Given the description of an element on the screen output the (x, y) to click on. 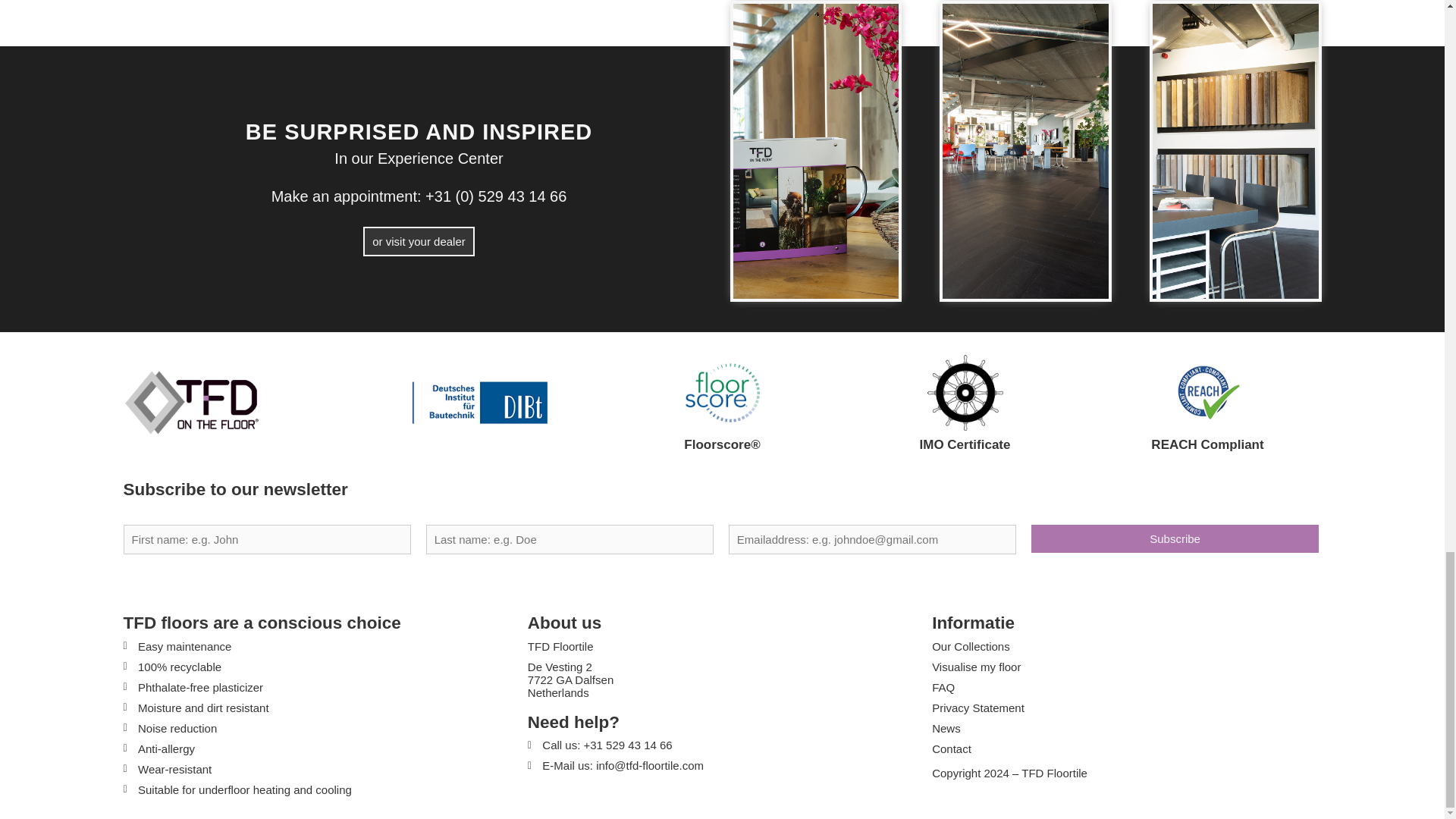
Subscribe (1174, 538)
